Given the description of an element on the screen output the (x, y) to click on. 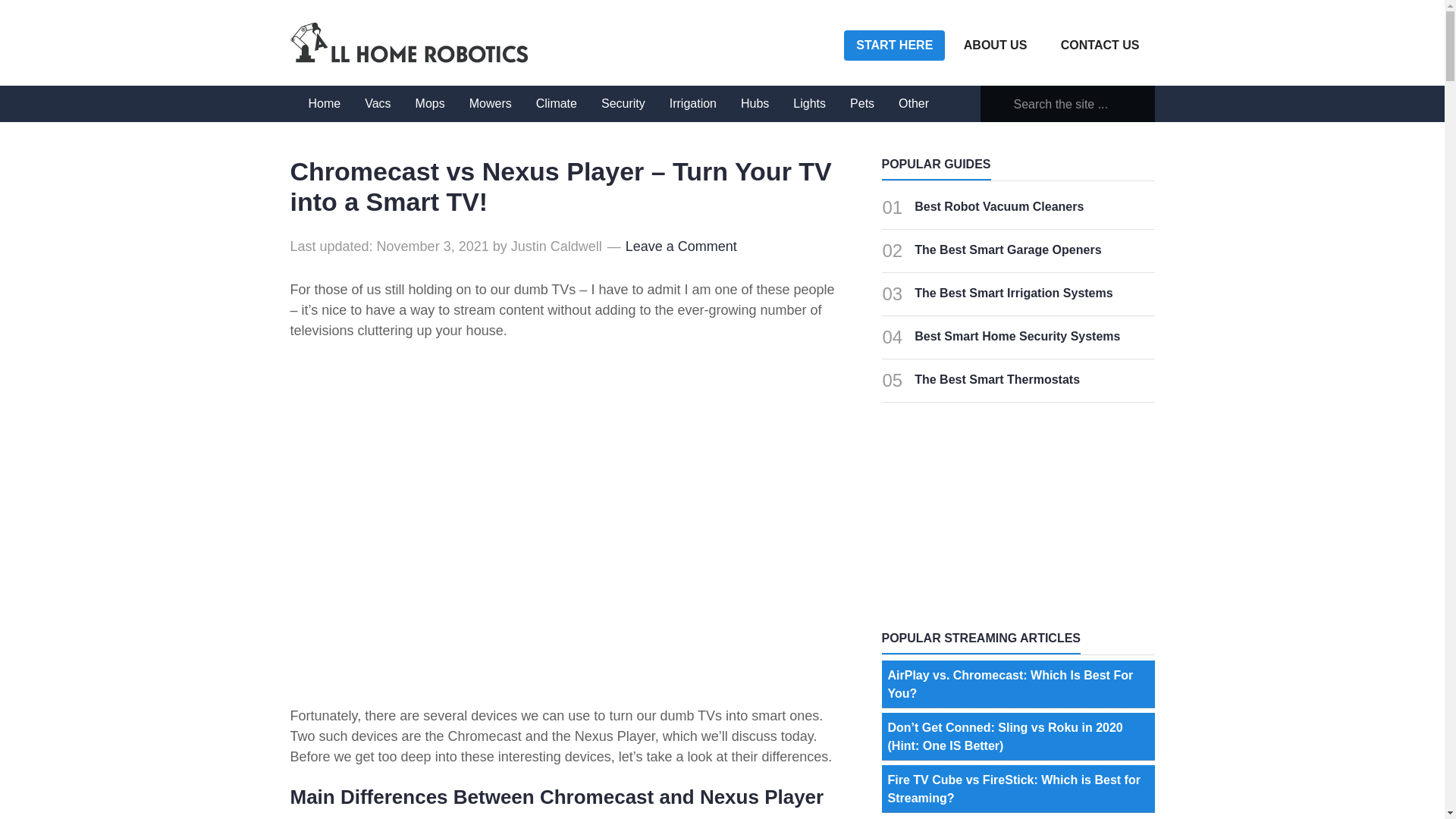
ABOUT US (995, 45)
Hubs (754, 103)
START HERE (894, 45)
Mops (430, 103)
Climate (556, 103)
Home (323, 103)
CONTACT US (1099, 45)
Irrigation (693, 103)
